Given the description of an element on the screen output the (x, y) to click on. 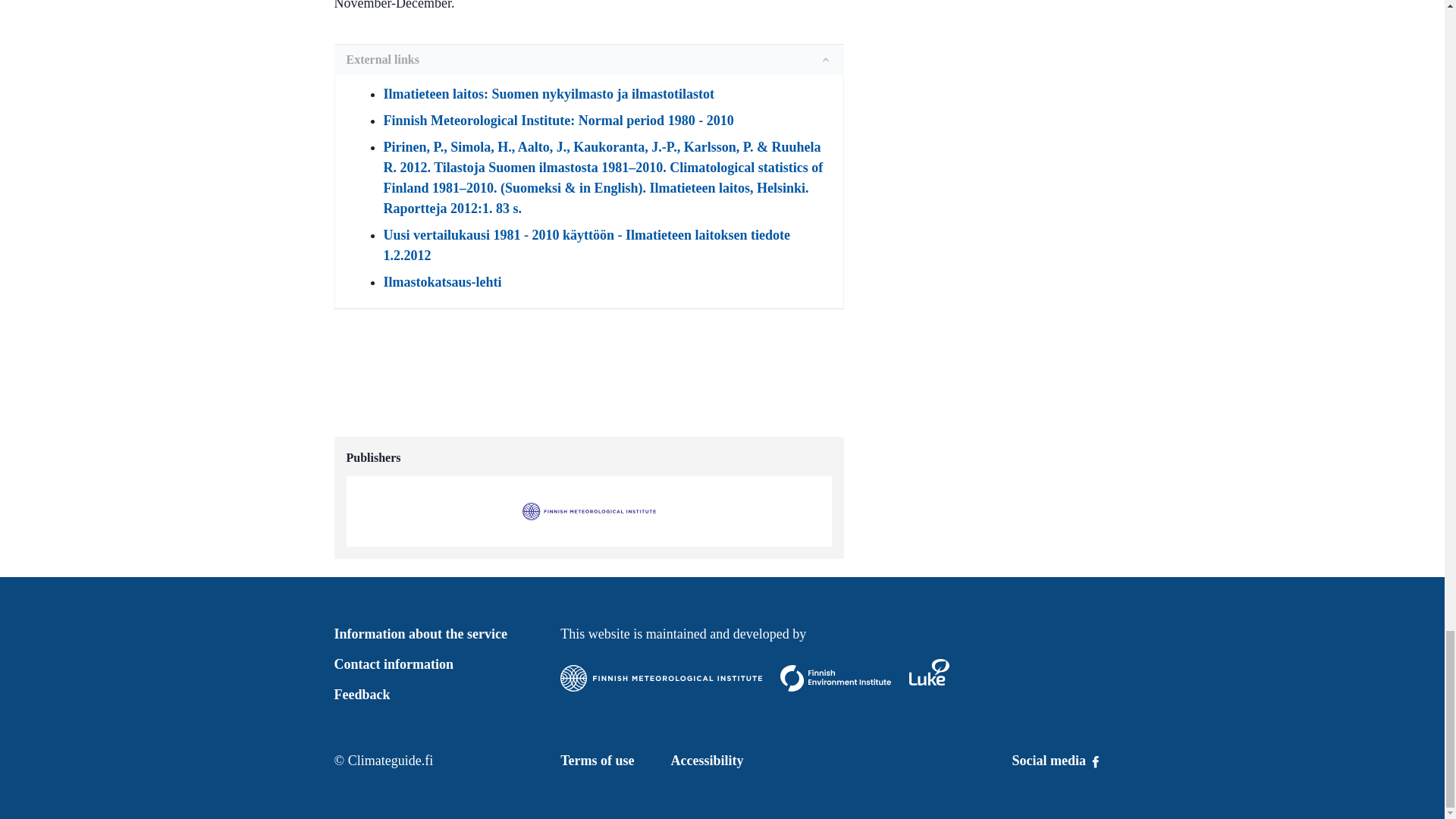
Finnish Meteorological Institute: Normal period 1980 - 2010 (558, 120)
Ilmatieteen laitos: Suomen nykyilmasto ja ilmastotilastot (549, 93)
External links (588, 60)
Finnish Meteorological Institute (660, 678)
Natural Resources Institute Finland (928, 672)
SYKE (835, 678)
